Given the description of an element on the screen output the (x, y) to click on. 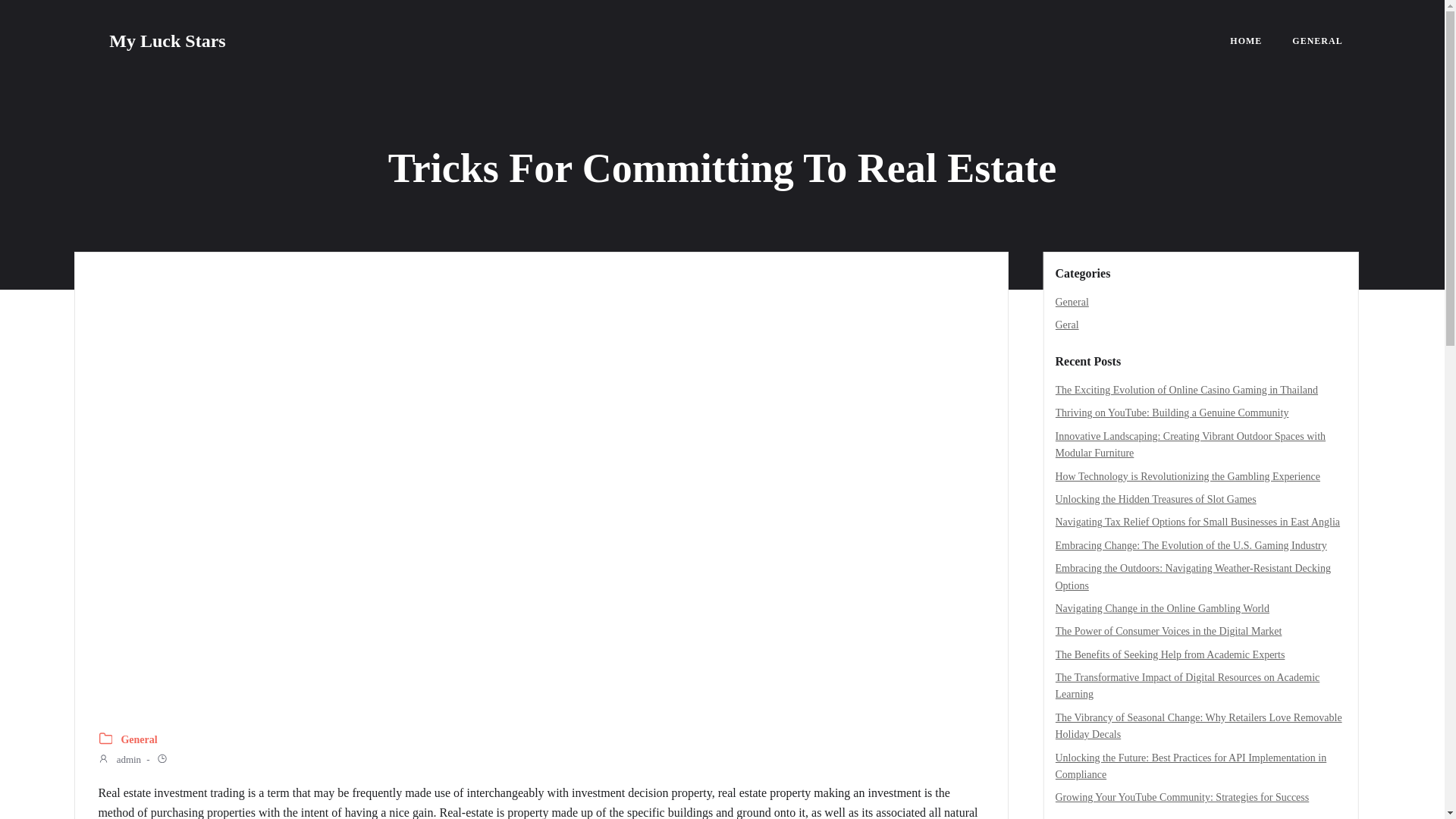
Navigating Change in the Online Gambling World (1162, 608)
admin (119, 760)
General (138, 740)
My Luck Stars (167, 40)
Thriving on YouTube: Building a Genuine Community (1171, 412)
HOME (1246, 40)
Embracing Change: The Evolution of the U.S. Gaming Industry (1190, 545)
The Exciting Evolution of Online Casino Gaming in Thailand (1187, 389)
Unlocking the Hidden Treasures of Slot Games (1155, 499)
